Given the description of an element on the screen output the (x, y) to click on. 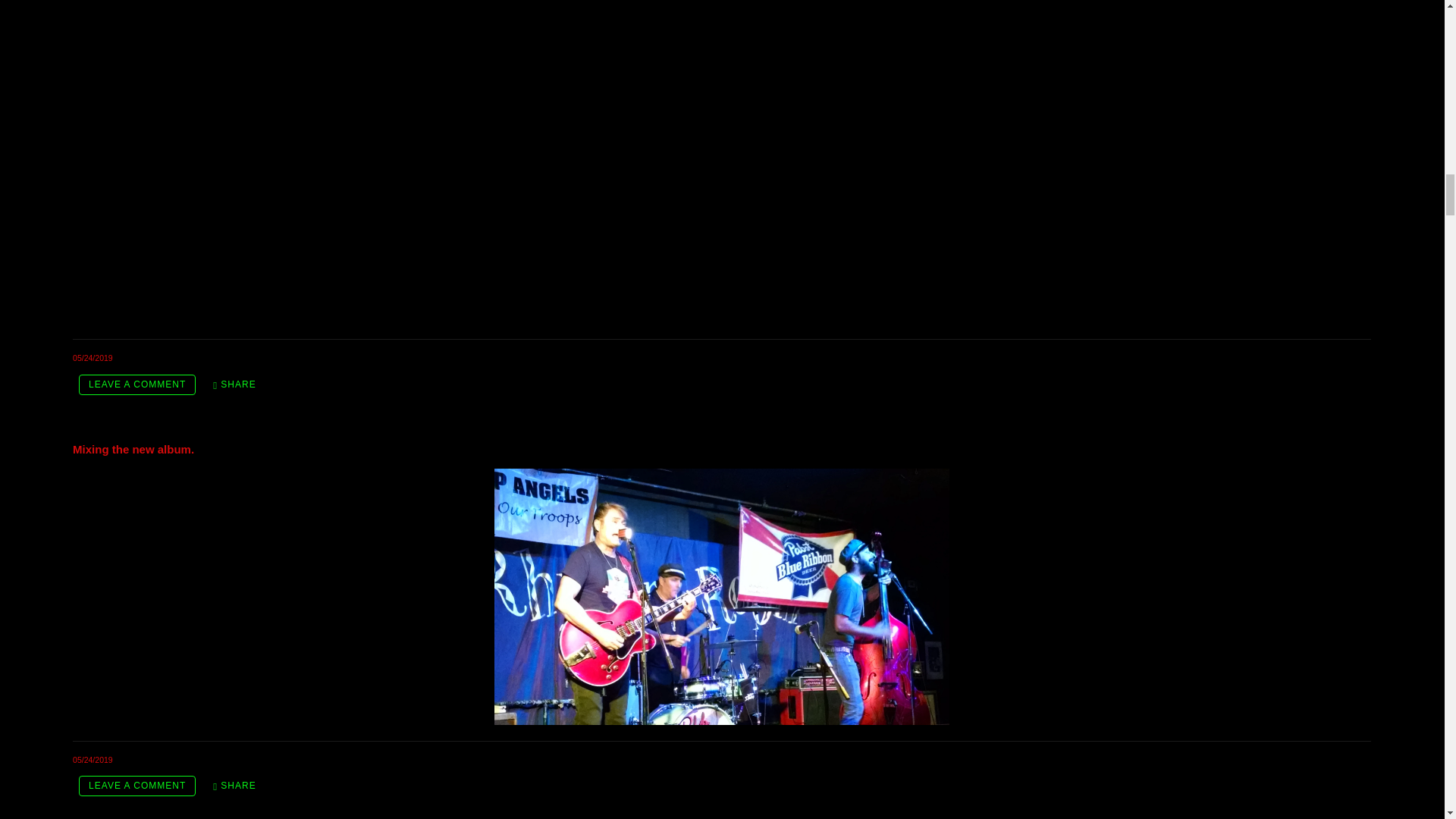
SHARE (233, 384)
Share Jam at Josh's going away party. (233, 384)
Leave a comment (136, 384)
May 24, 2019 11:19 (92, 759)
May 24, 2019 11:24 (92, 357)
Mixing the new album. (132, 449)
LEAVE A COMMENT (136, 785)
LEAVE A COMMENT (136, 384)
